Given the description of an element on the screen output the (x, y) to click on. 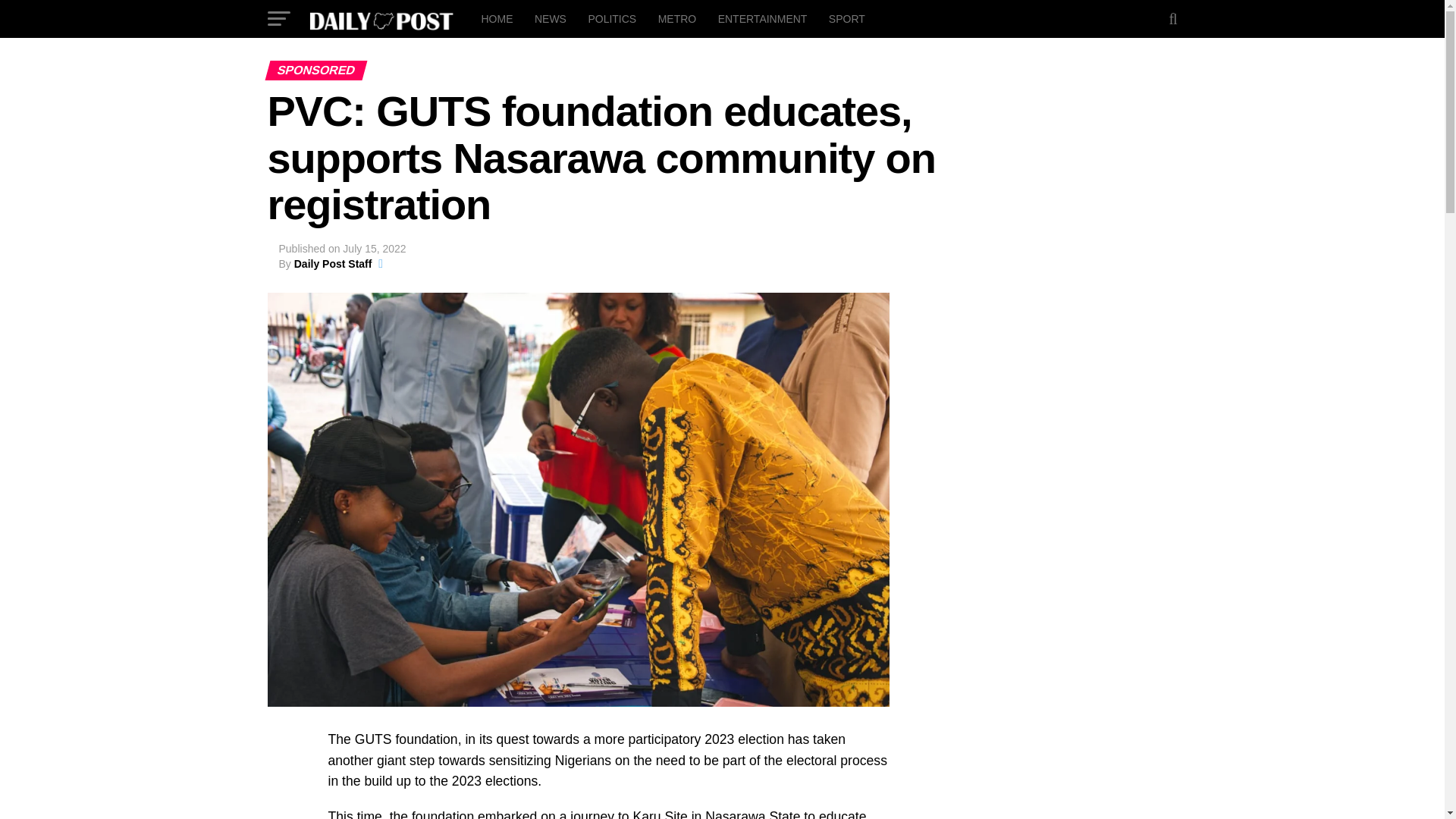
NEWS (550, 18)
ENTERTAINMENT (762, 18)
HOME (496, 18)
Daily Post Staff (333, 263)
SPORT (847, 18)
METRO (677, 18)
POLITICS (611, 18)
Posts by Daily Post Staff (333, 263)
